Given the description of an element on the screen output the (x, y) to click on. 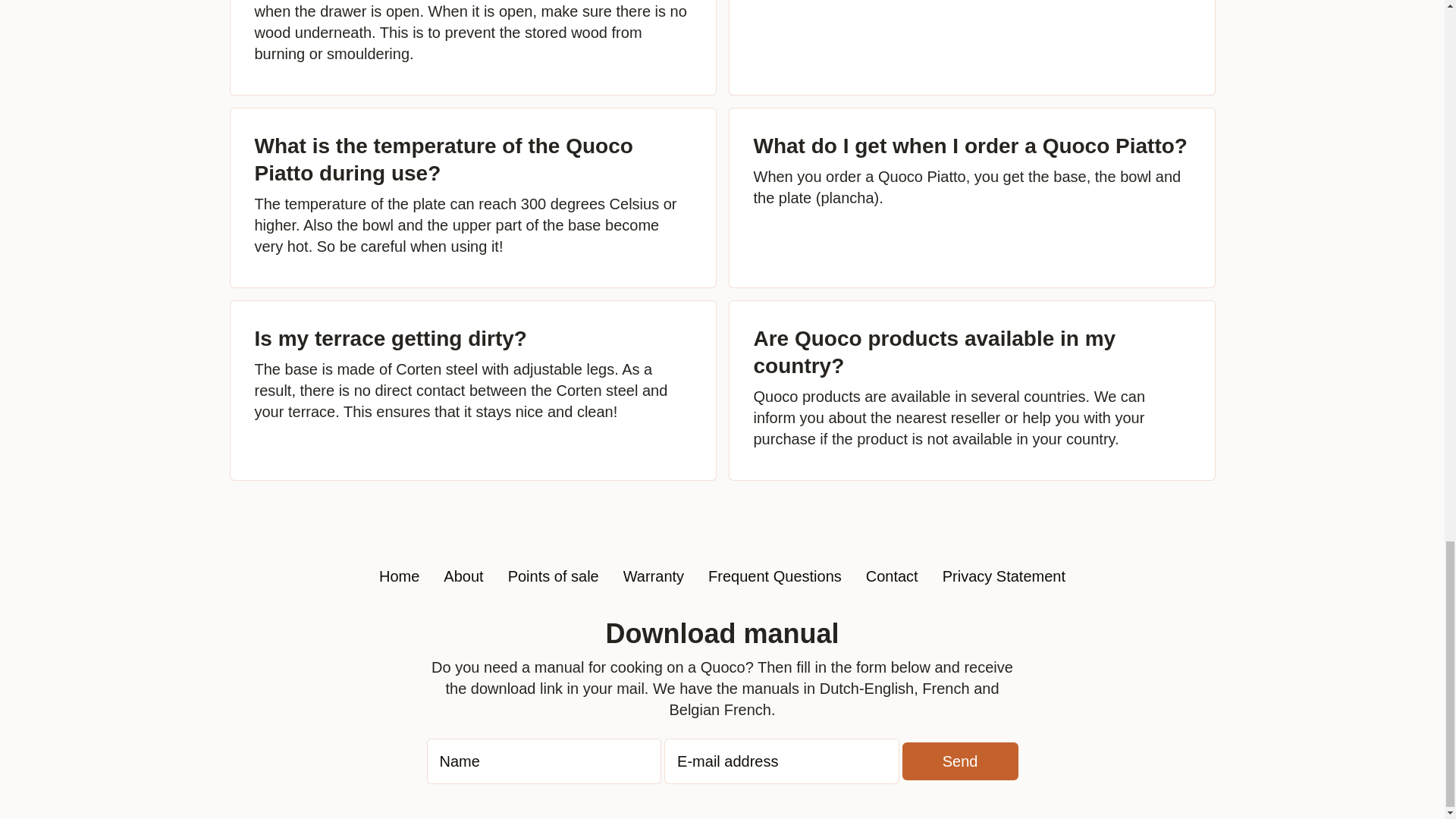
Send (959, 761)
Send (959, 761)
Privacy Statement (1003, 576)
Home (398, 576)
Contact (892, 576)
About (463, 576)
Frequent Questions (774, 576)
Points of sale (553, 576)
Warranty (653, 576)
